Given the description of an element on the screen output the (x, y) to click on. 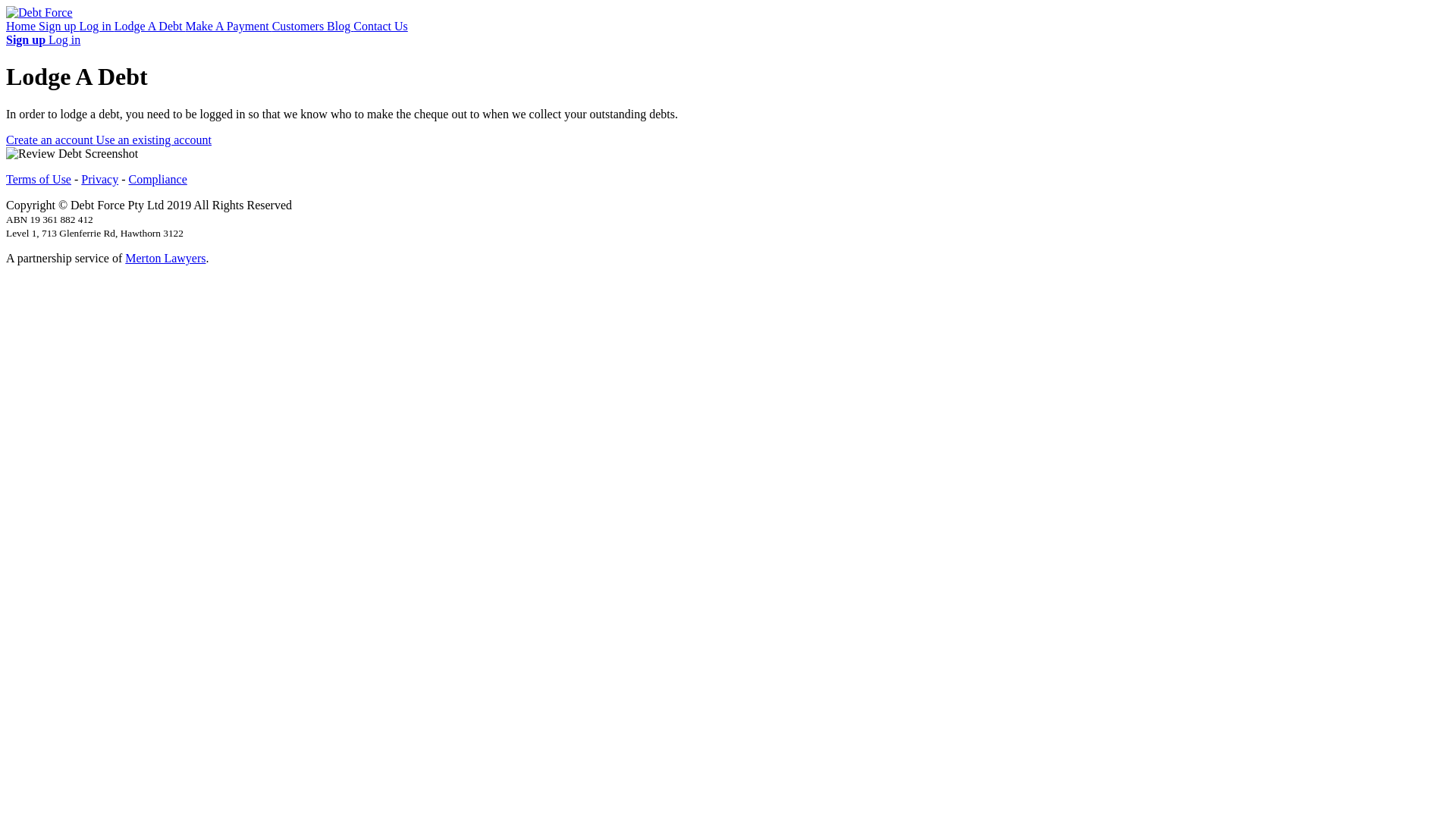
Compliance Element type: text (157, 178)
Create an account Element type: text (51, 139)
Sign up Element type: text (58, 25)
Log in Element type: text (64, 39)
Lodge A Debt Element type: text (149, 25)
Privacy Element type: text (99, 178)
Terms of Use Element type: text (38, 178)
Blog Element type: text (339, 25)
Use an existing account Element type: text (153, 139)
Log in Element type: text (95, 25)
Sign up Element type: text (27, 39)
Contact Us Element type: text (380, 25)
Home Element type: text (22, 25)
Merton Lawyers Element type: text (165, 257)
Debt Force Element type: hover (39, 12)
Make A Payment Element type: text (228, 25)
Customers Element type: text (299, 25)
